Given the description of an element on the screen output the (x, y) to click on. 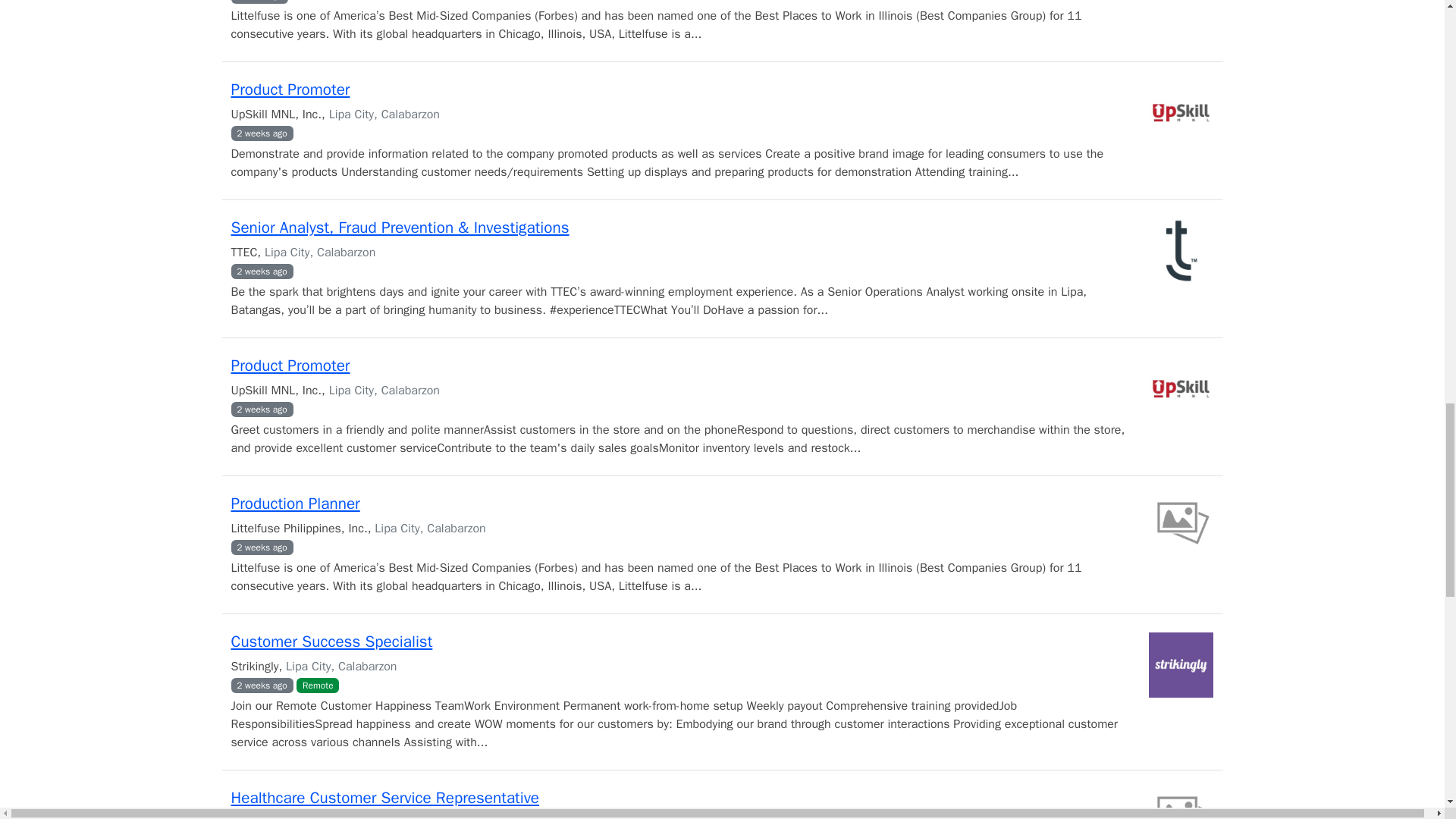
Production Planner (294, 503)
Customer Success Specialist (331, 641)
Product Promoter (289, 365)
Product Promoter (289, 89)
Healthcare Customer Service Representative (384, 797)
